Given the description of an element on the screen output the (x, y) to click on. 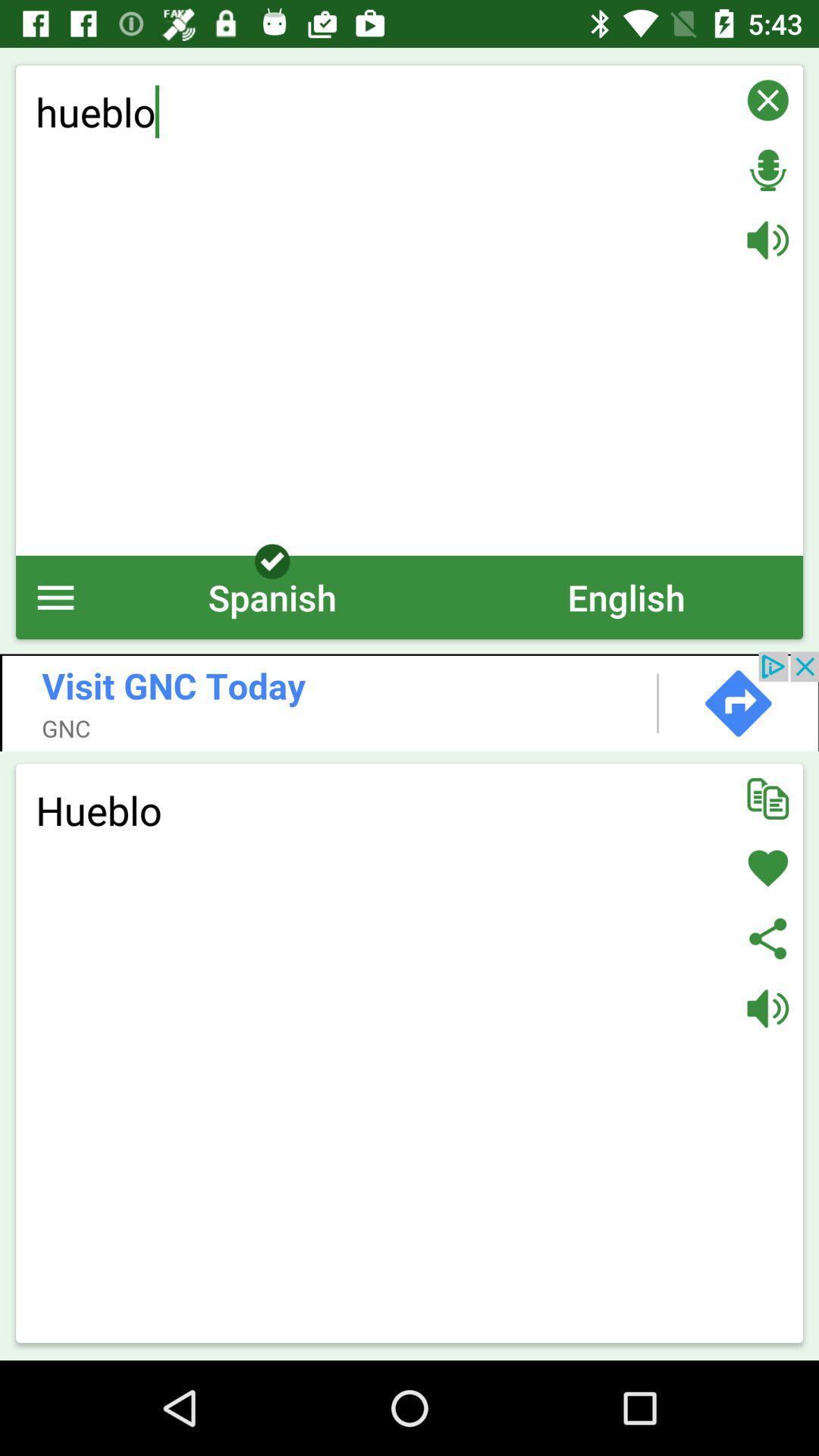
sharing options (768, 938)
